Given the description of an element on the screen output the (x, y) to click on. 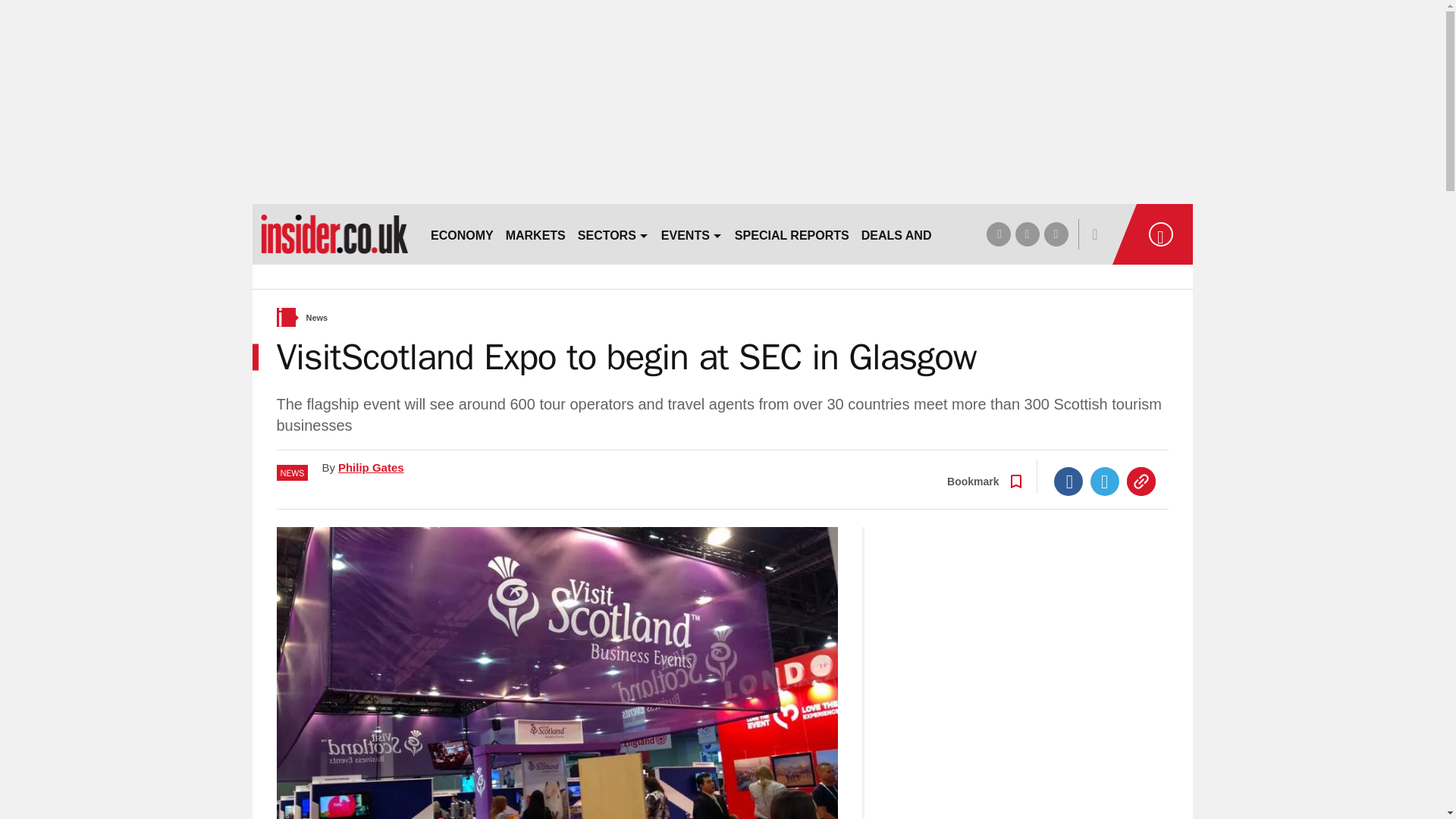
MARKETS (535, 233)
EVENTS (692, 233)
businessInsider (333, 233)
Twitter (1104, 481)
twitter (1026, 233)
facebook (997, 233)
SPECIAL REPORTS (792, 233)
SECTORS (613, 233)
linkedin (1055, 233)
Facebook (1068, 481)
DEALS AND DEALMAKERS (941, 233)
ECONOMY (462, 233)
